Given the description of an element on the screen output the (x, y) to click on. 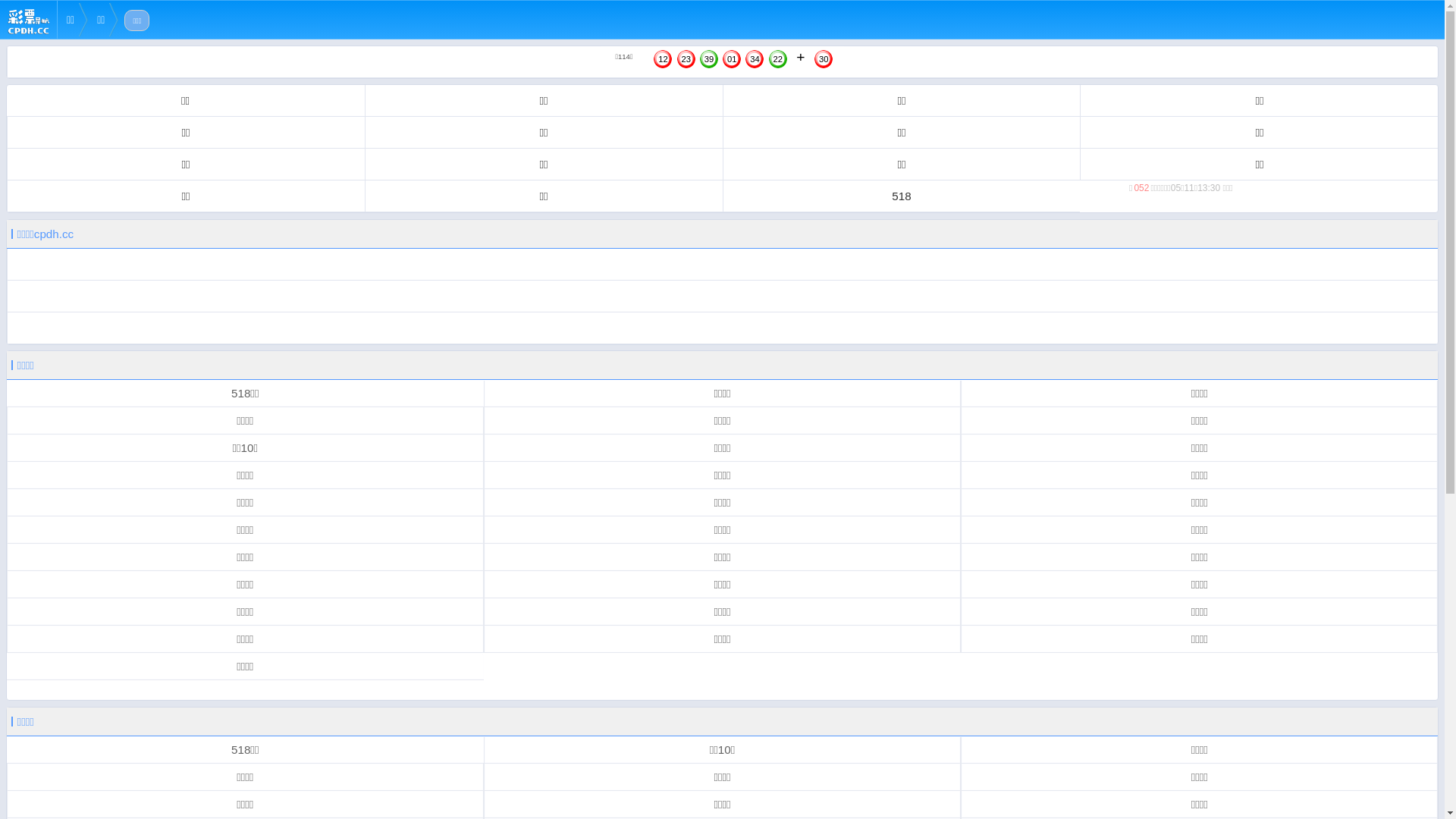
518 Element type: text (900, 195)
